Given the description of an element on the screen output the (x, y) to click on. 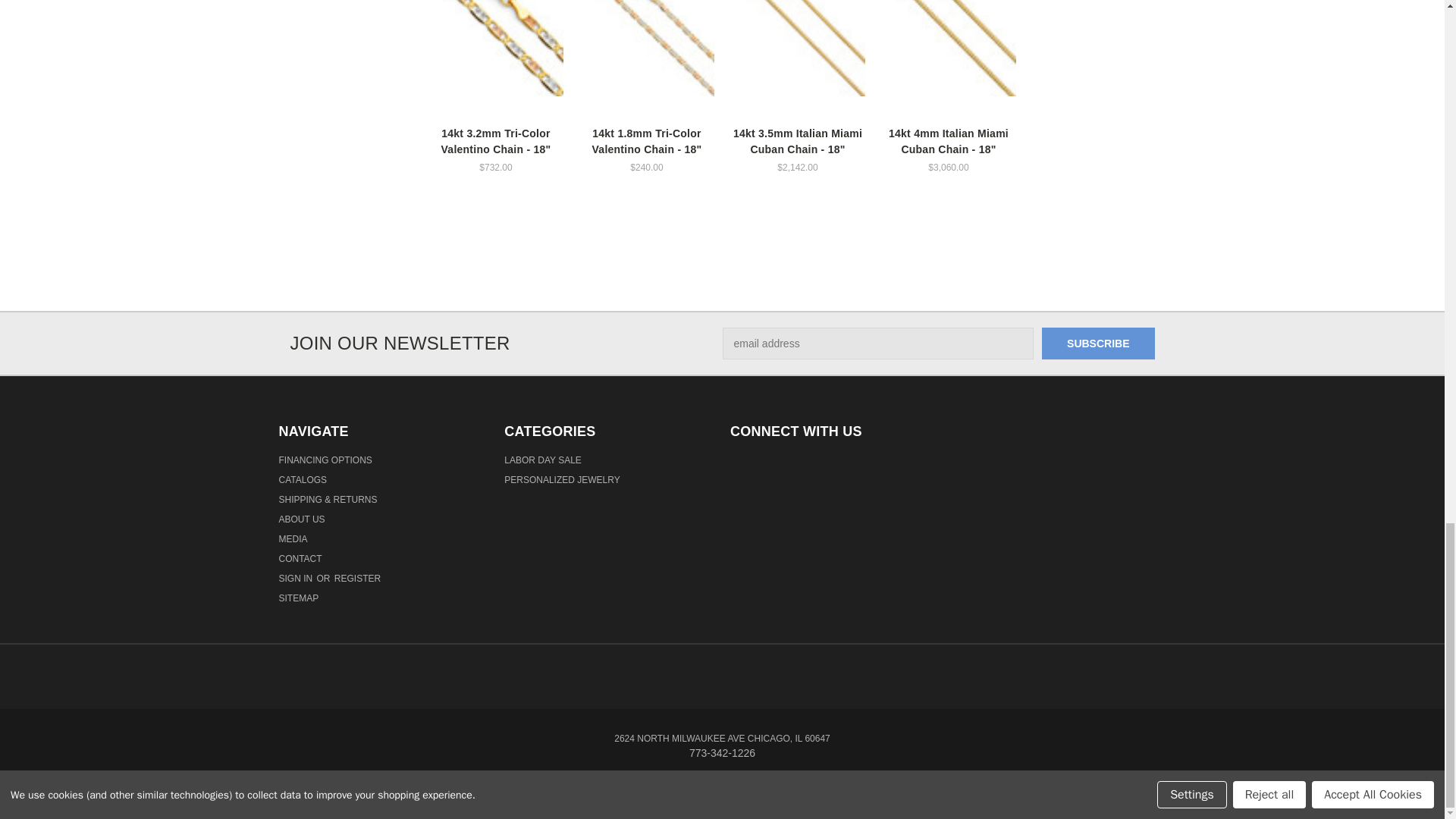
14kt 3.2mm Tri-Color Valentino Chain - 18"  (495, 48)
14kt 1.8mm Tri-Color Valentino Chain - 18" (646, 48)
14kt 4mm Italian Miami Cuban Chain - 18" (948, 48)
Subscribe (1098, 343)
14kt 3.5mm Italian Miami Cuban Chain - 18" (797, 48)
